Given the description of an element on the screen output the (x, y) to click on. 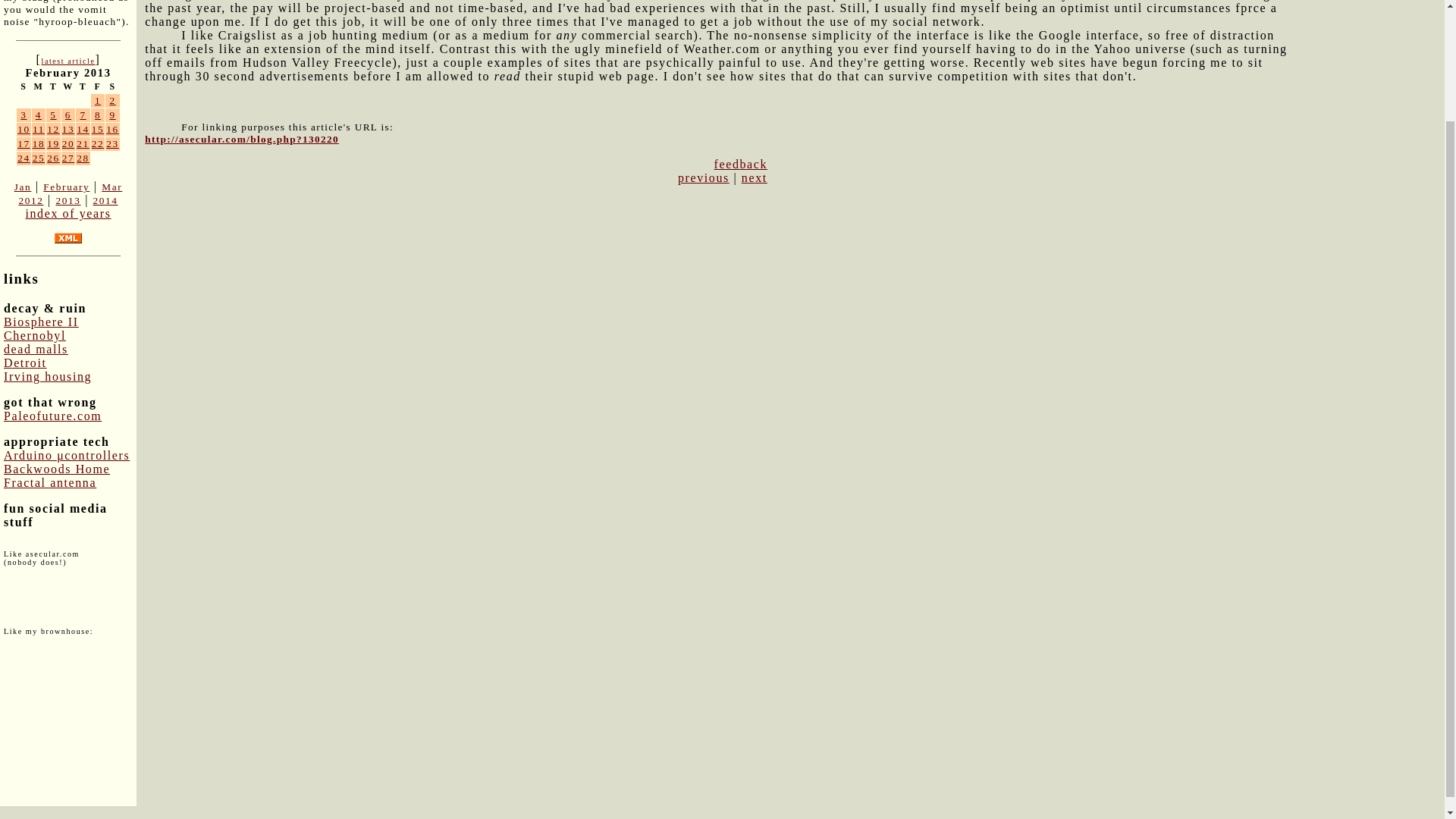
latest article (67, 60)
18 (38, 143)
2013 (67, 200)
2014 (105, 200)
19 (52, 143)
12 (52, 129)
26 (52, 157)
17 (23, 143)
11 (38, 129)
28 (82, 157)
13 (68, 129)
14 (82, 129)
21 (82, 143)
index of years (67, 213)
25 (38, 157)
